Given the description of an element on the screen output the (x, y) to click on. 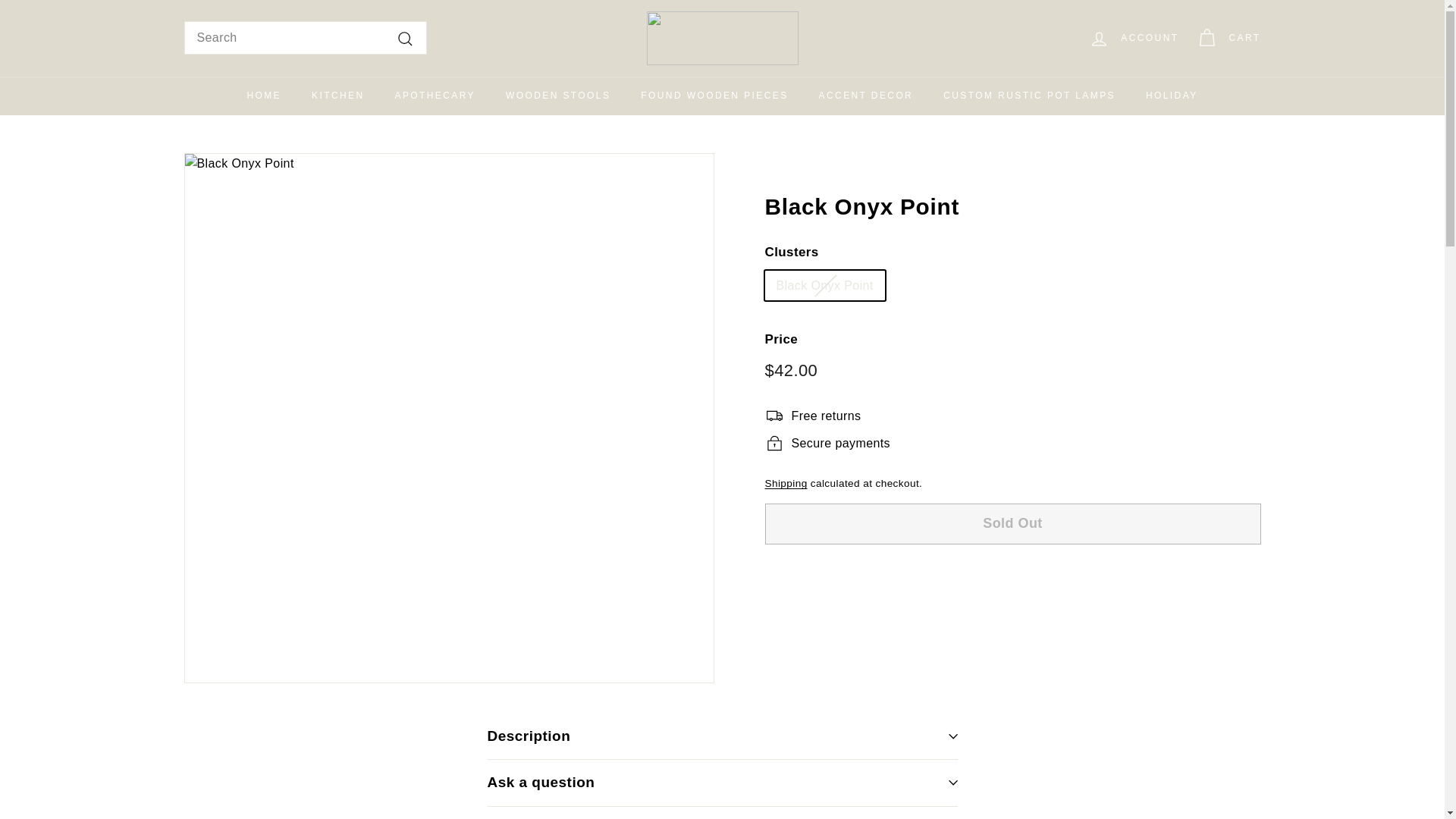
WOODEN STOOLS (558, 95)
Sold Out (1012, 523)
CART (1228, 37)
Ask a question (721, 782)
HOLIDAY (1171, 95)
Description (721, 736)
ACCOUNT (1134, 37)
ACCENT DECOR (865, 95)
APOTHECARY (435, 95)
